Given the description of an element on the screen output the (x, y) to click on. 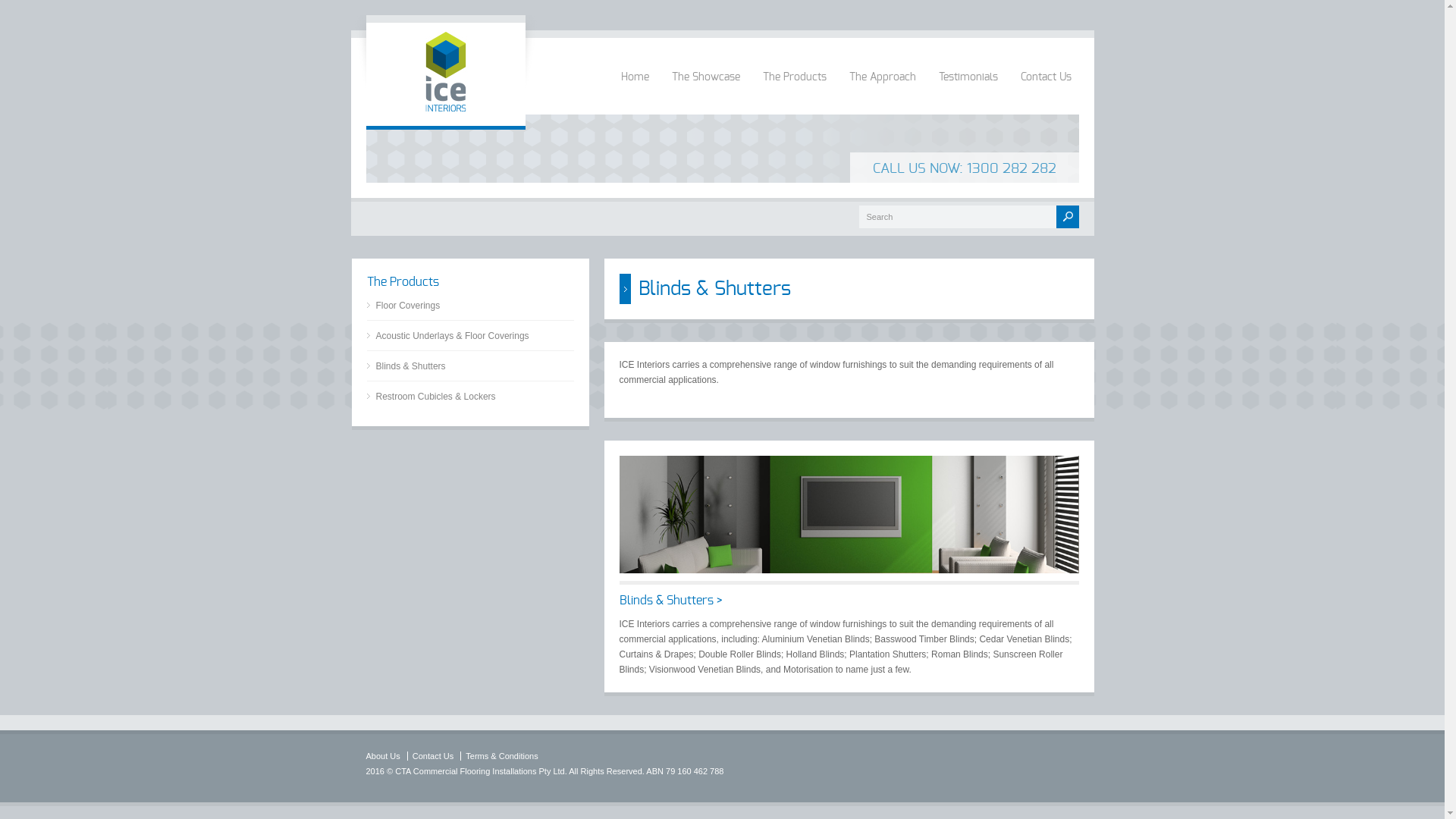
Blinds & Shutters Element type: text (406, 369)
Floor Coverings Element type: text (403, 309)
Terms & Conditions Element type: text (501, 755)
Testimonials Element type: text (968, 60)
Acoustic Underlays & Floor Coverings Element type: text (448, 339)
The Showcase Element type: text (705, 60)
Contact Us Element type: text (432, 755)
Home Element type: text (633, 60)
The Approach Element type: text (882, 60)
About Us Element type: text (382, 755)
Contact Us Element type: text (1046, 60)
The Products Element type: text (794, 60)
Blinds & Shutters > Element type: text (669, 600)
Restroom Cubicles & Lockers Element type: text (431, 400)
ICE Interiors Element type: hover (445, 110)
